Given the description of an element on the screen output the (x, y) to click on. 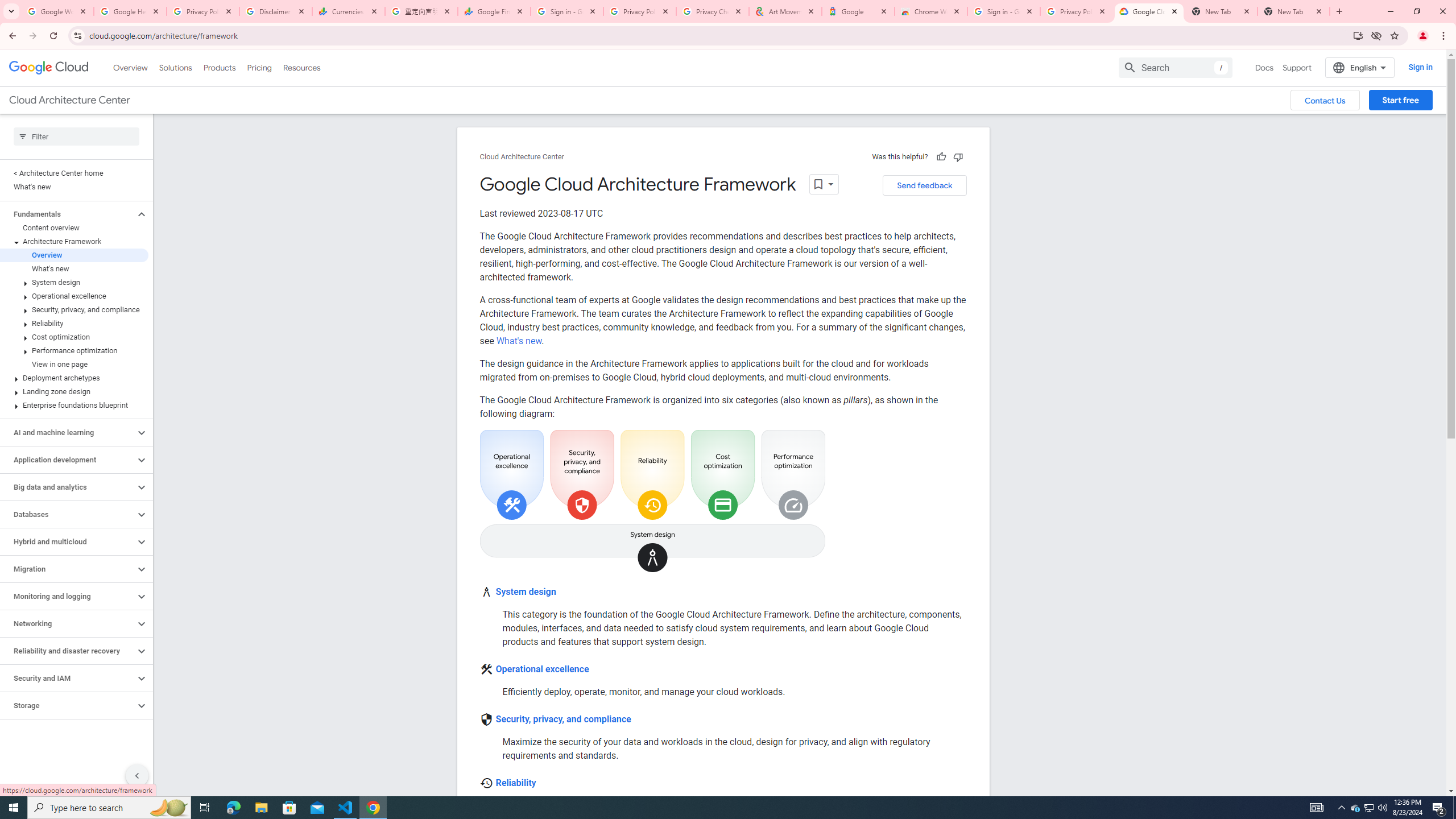
Performance optimization (74, 350)
Open dropdown (823, 183)
Architecture Framework (74, 241)
Security, privacy, and compliance (74, 309)
< Architecture Center home (74, 173)
Hide side navigation (136, 775)
Type to filter (76, 136)
Not helpful (957, 156)
Send feedback (924, 185)
